Given the description of an element on the screen output the (x, y) to click on. 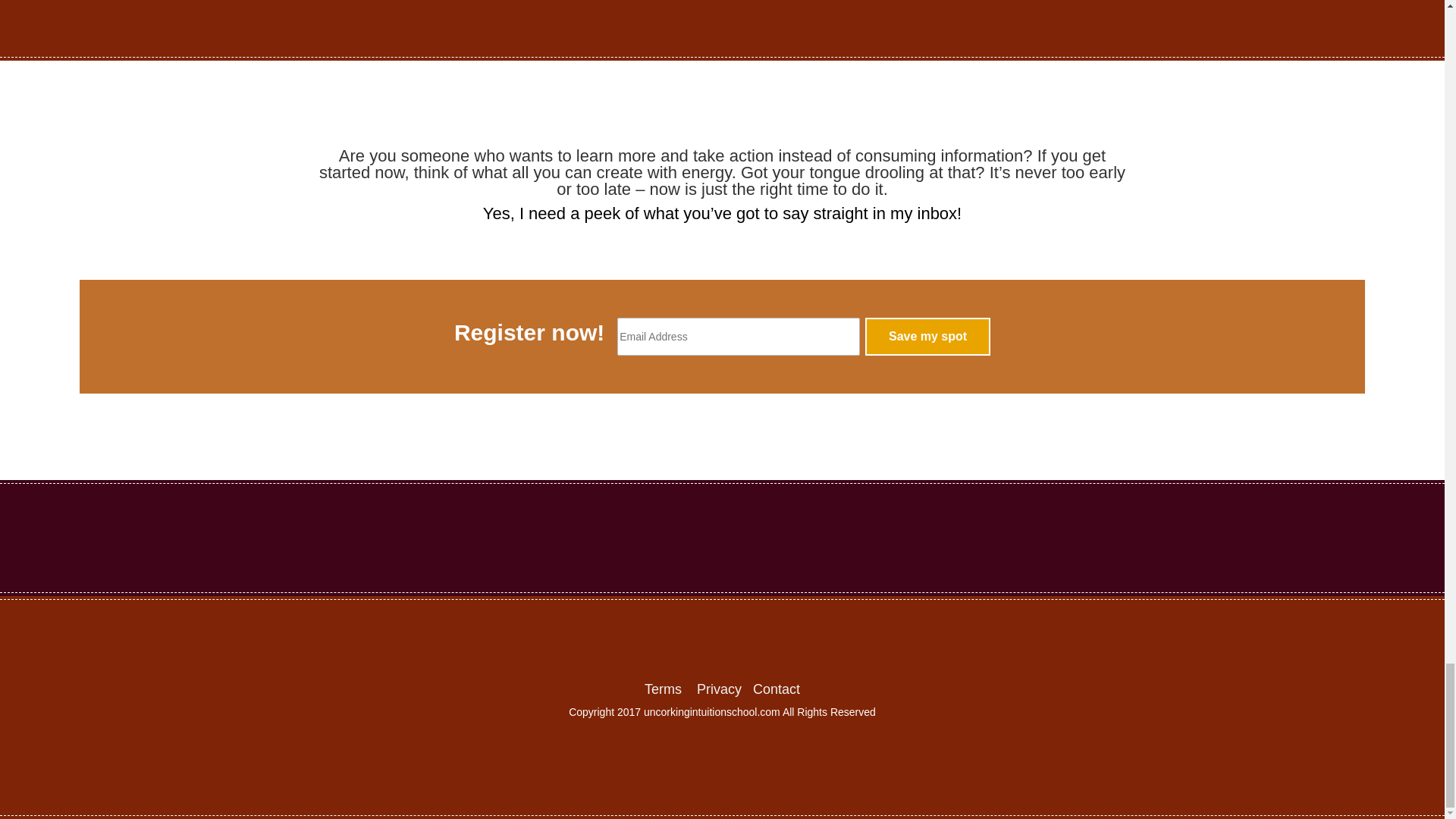
Privacy (719, 688)
Save my spot (927, 336)
Contact (775, 688)
Terms (663, 688)
